Given the description of an element on the screen output the (x, y) to click on. 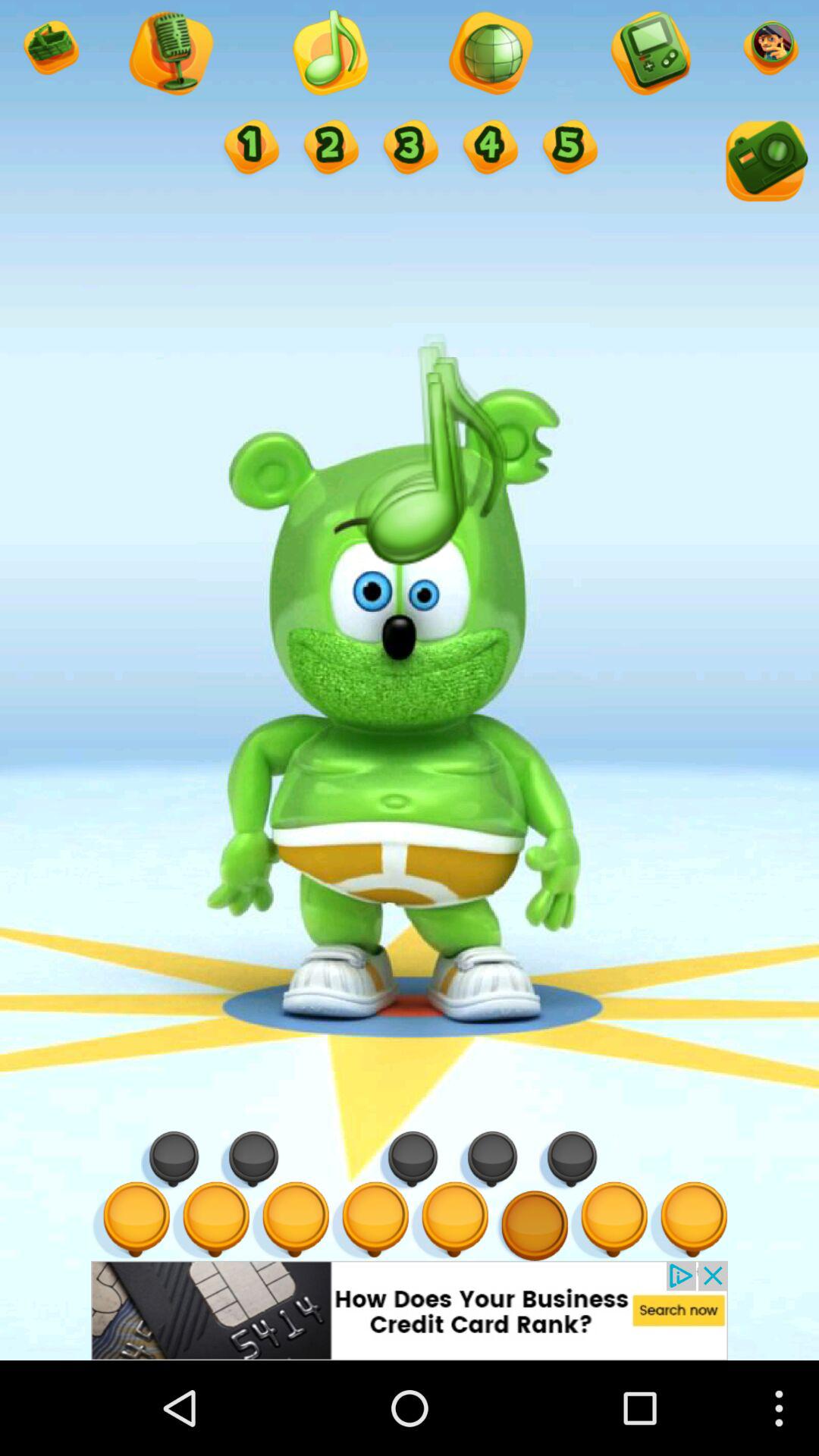
google advertisements banner (409, 1310)
